Given the description of an element on the screen output the (x, y) to click on. 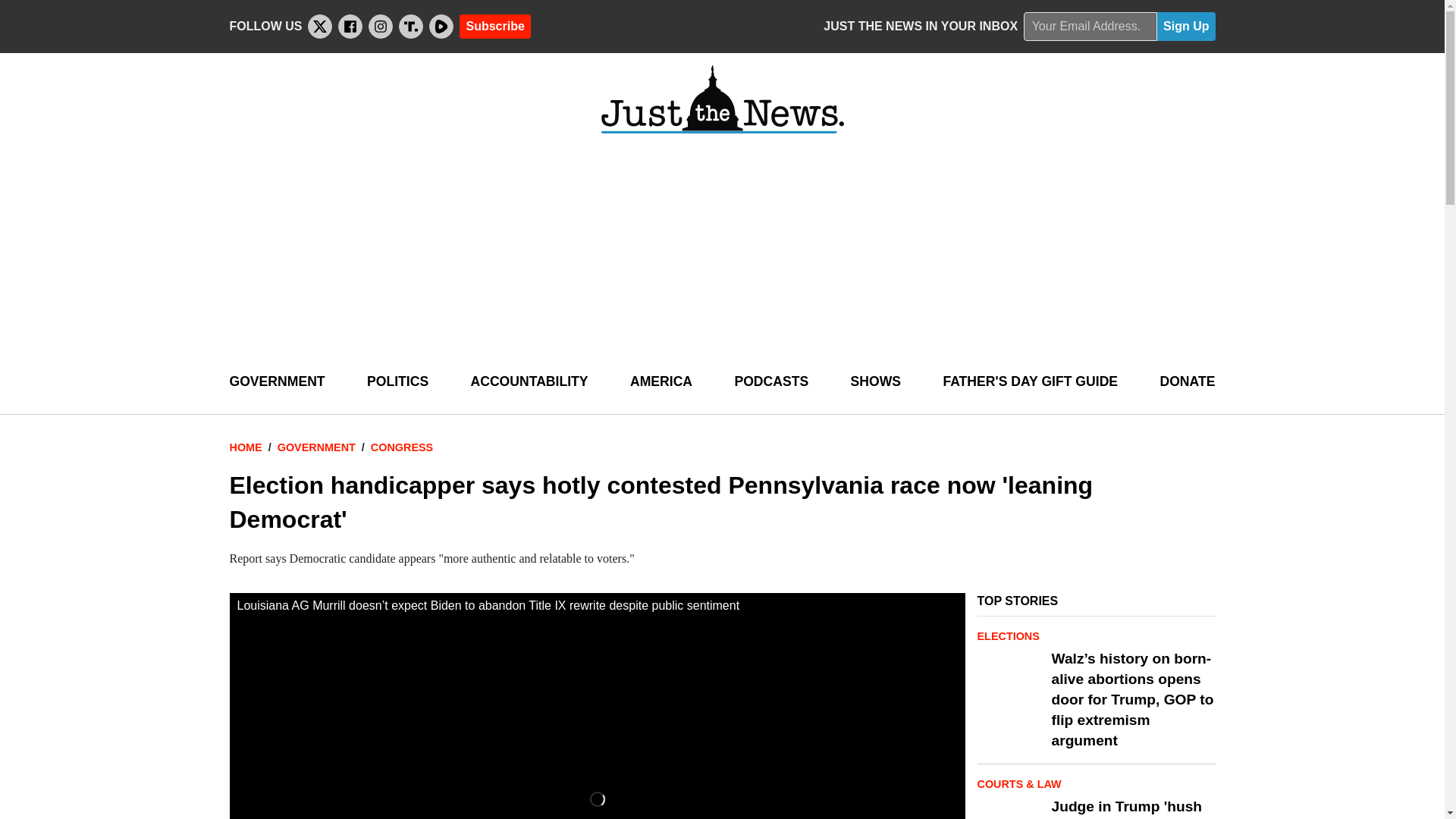
SHOWS (875, 381)
FATHER'S DAY GIFT GUIDE (1030, 381)
DONATE (1186, 381)
Sign Up (1185, 26)
AMERICA (661, 381)
PODCASTS (770, 381)
ACCOUNTABILITY (529, 381)
GOVERNMENT (276, 381)
Subscribe (494, 26)
Sign Up (1185, 26)
POLITICS (397, 381)
